Given the description of an element on the screen output the (x, y) to click on. 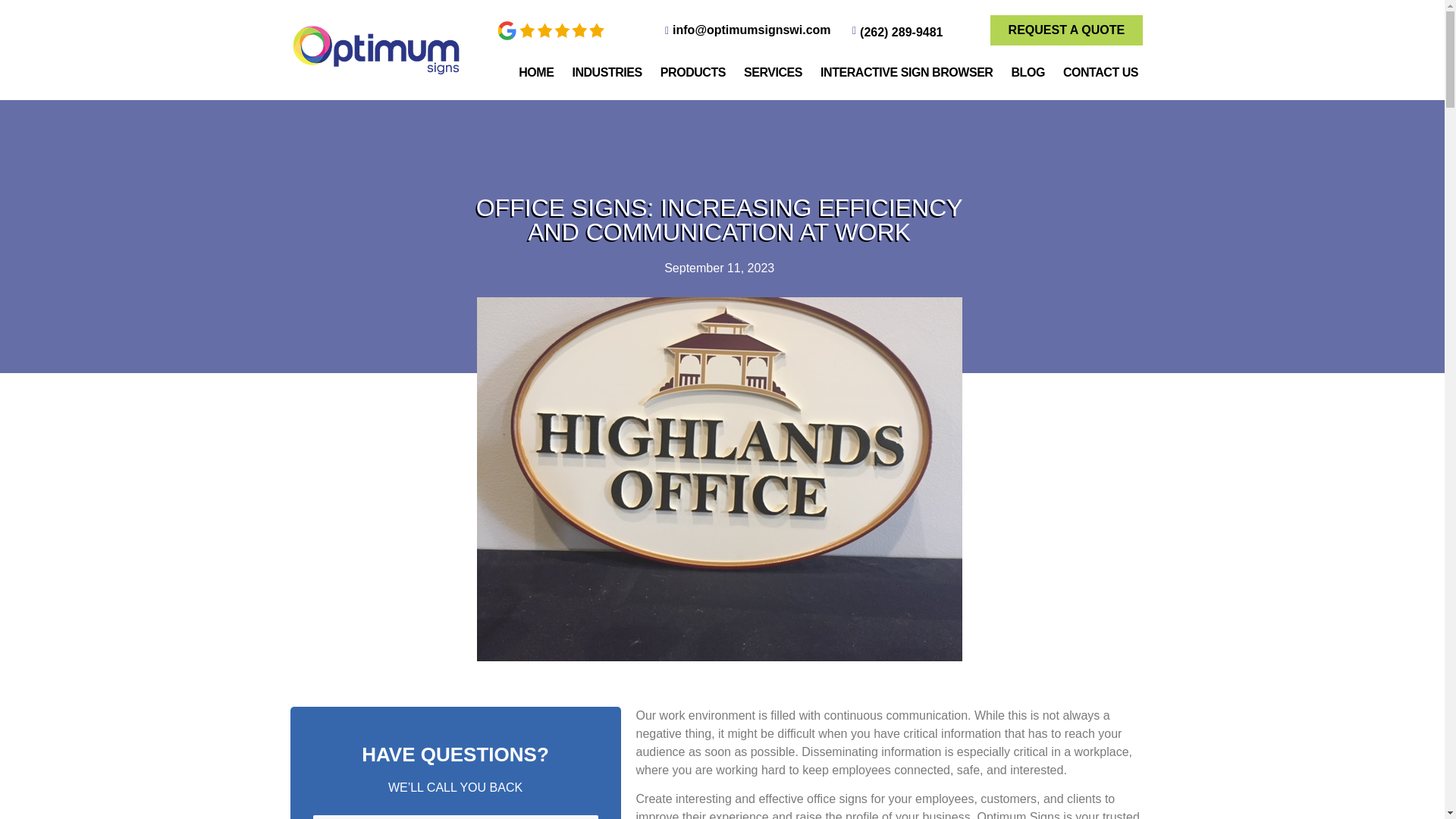
REQUEST A QUOTE (1066, 30)
HOME (535, 72)
INDUSTRIES (606, 72)
PRODUCTS (692, 72)
